Given the description of an element on the screen output the (x, y) to click on. 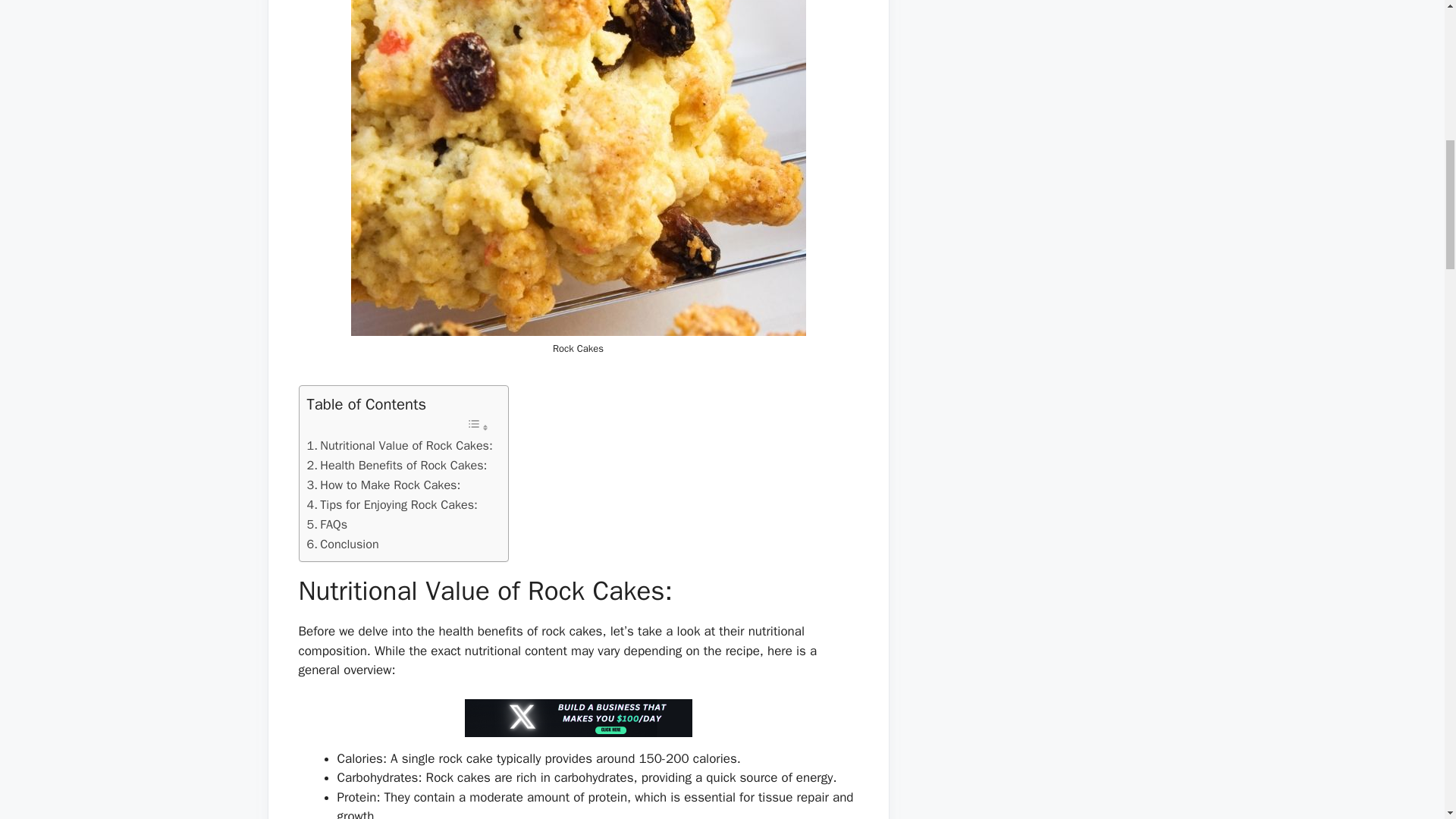
Tips for Enjoying Rock Cakes: (391, 505)
Nutritional Value of Rock Cakes: (398, 445)
Conclusion (341, 544)
How to Make Rock Cakes: (382, 485)
Scroll back to top (1406, 720)
FAQs (326, 524)
Health Benefits of Rock Cakes: (395, 465)
Health Benefits of Rock Cakes: (395, 465)
Nutritional Value of Rock Cakes: (398, 445)
How to Make Rock Cakes: (382, 485)
